Given the description of an element on the screen output the (x, y) to click on. 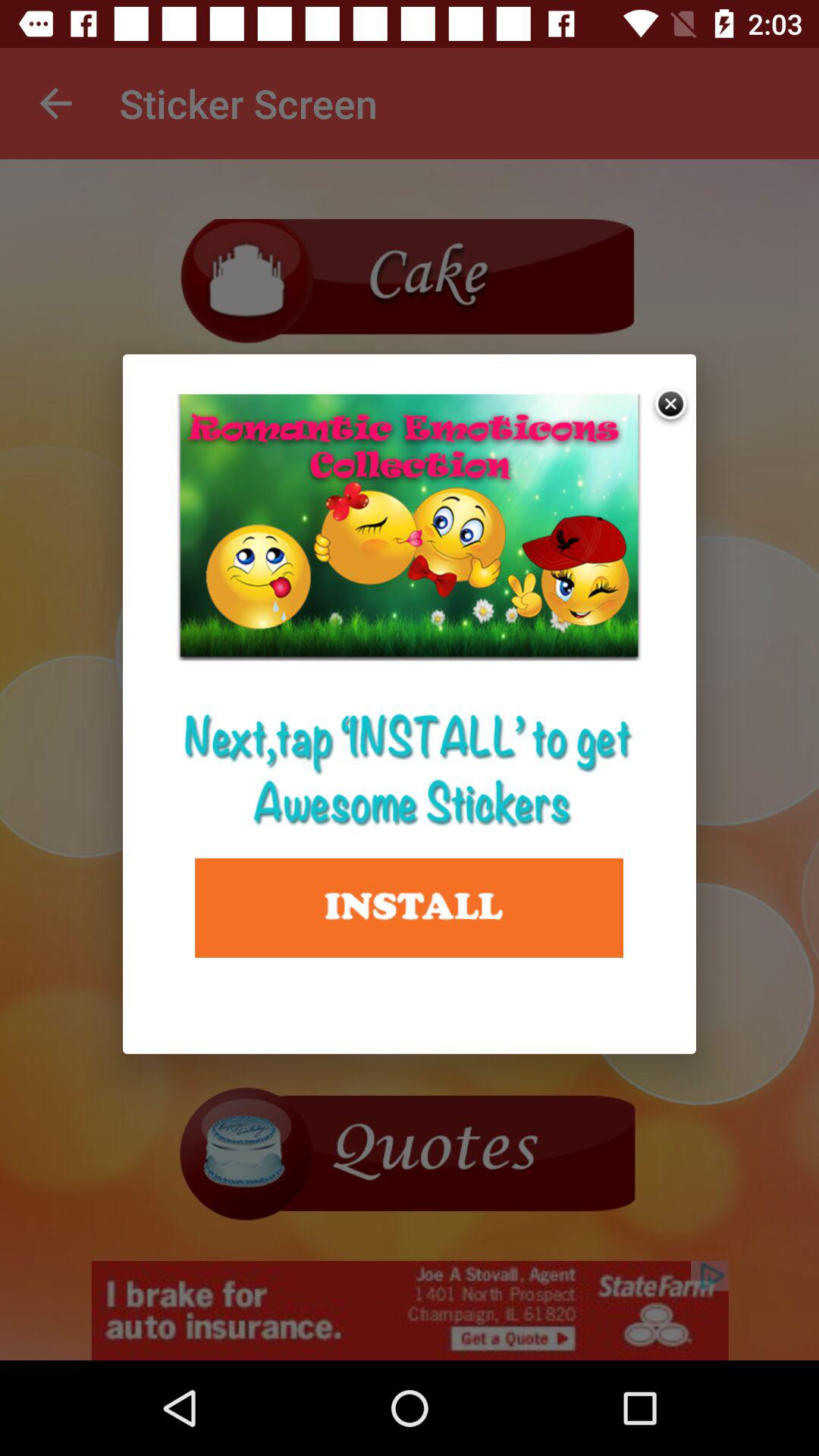
press icon at the top right corner (672, 405)
